Given the description of an element on the screen output the (x, y) to click on. 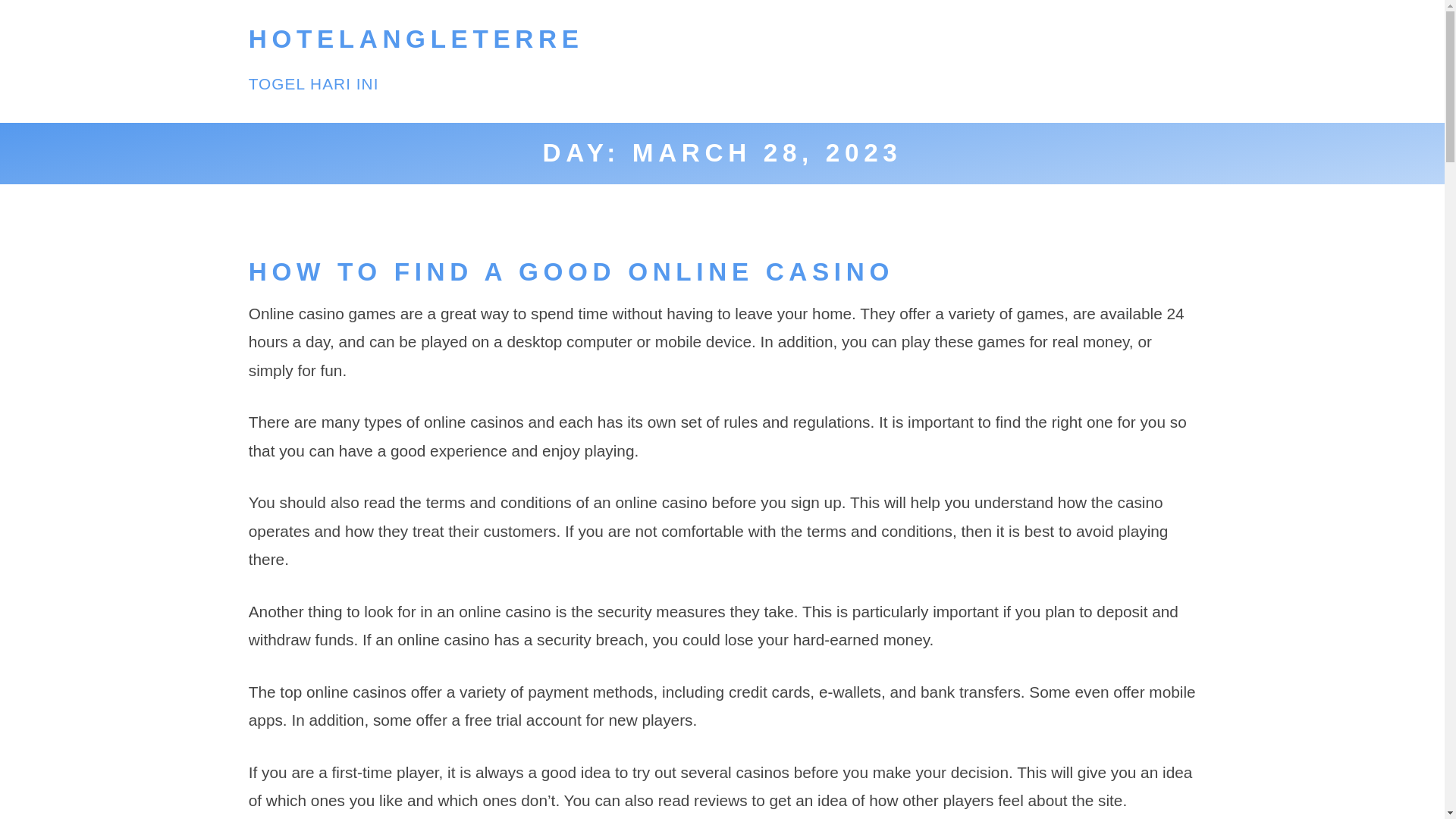
TOGEL HARI INI (313, 83)
HOW TO FIND A GOOD ONLINE CASINO (570, 271)
HOTELANGLETERRE (415, 39)
